Given the description of an element on the screen output the (x, y) to click on. 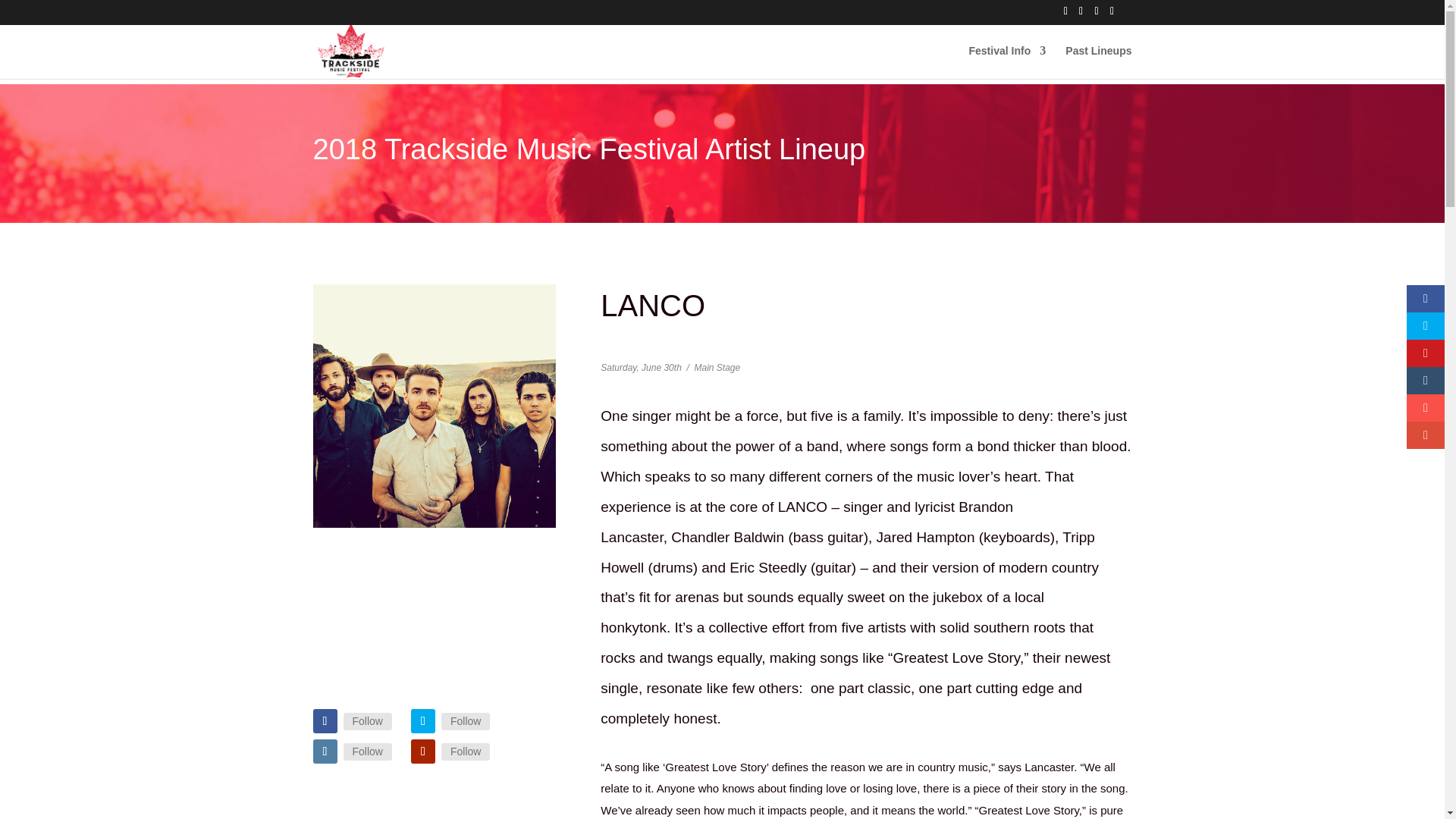
Follow on Youtube (422, 751)
Youtube (465, 751)
Facebook (366, 720)
Twitter (465, 720)
Past Lineups (1098, 61)
Follow (366, 751)
Follow on Facebook (324, 721)
Instagram (366, 751)
Follow on Twitter (422, 721)
Follow (465, 720)
